Given the description of an element on the screen output the (x, y) to click on. 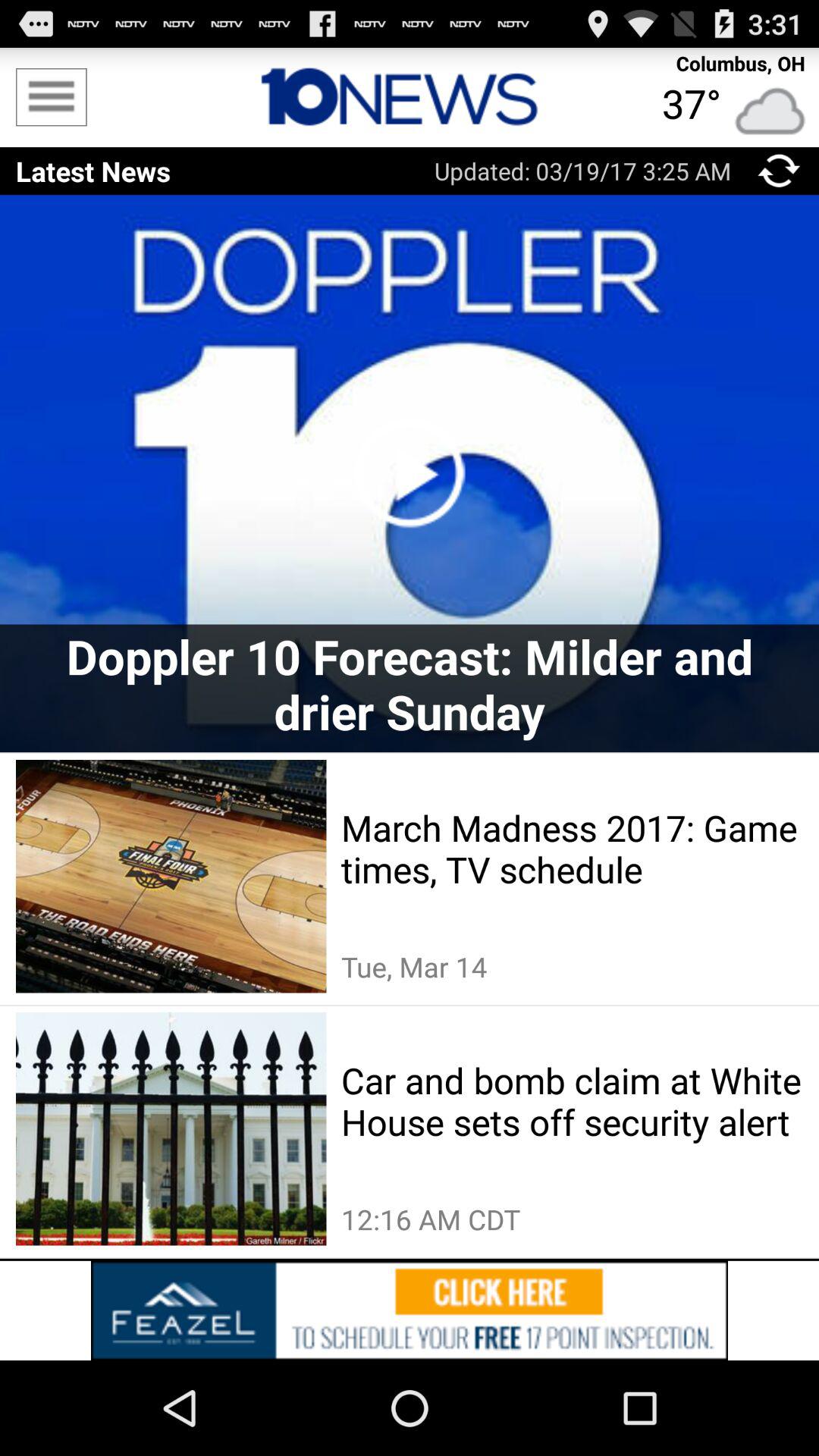
open menu (51, 97)
